Given the description of an element on the screen output the (x, y) to click on. 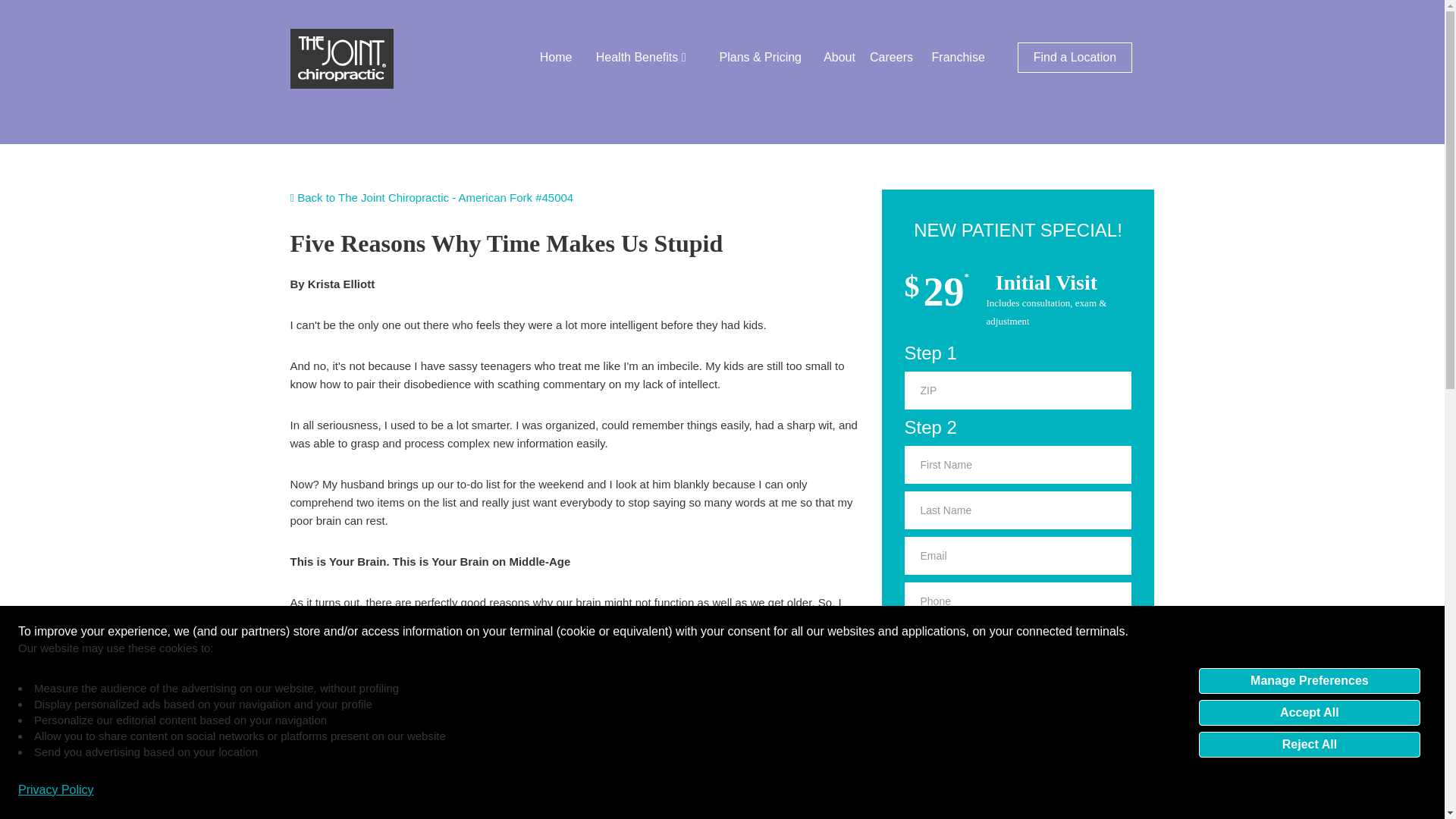
Home (556, 57)
Health Benefits (640, 57)
Franchise (958, 57)
1 (911, 728)
Accept All (1309, 711)
Reject All (1309, 743)
Manage Preferences (1309, 679)
Find a Location (1074, 57)
Privacy Policy (55, 789)
Been to a Chiropractor Before? (1018, 647)
